Given the description of an element on the screen output the (x, y) to click on. 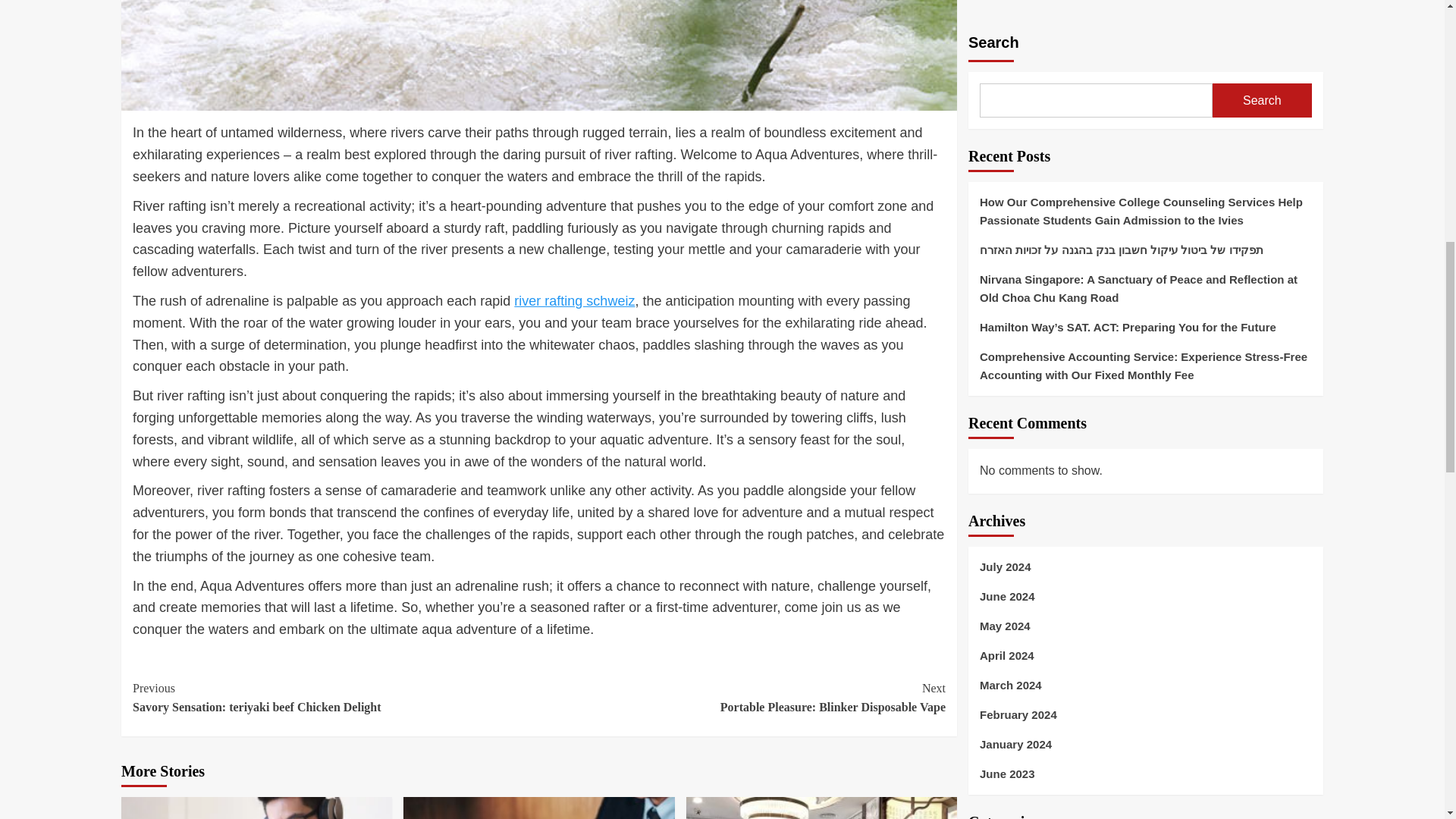
river rafting schweiz (741, 697)
